Given the description of an element on the screen output the (x, y) to click on. 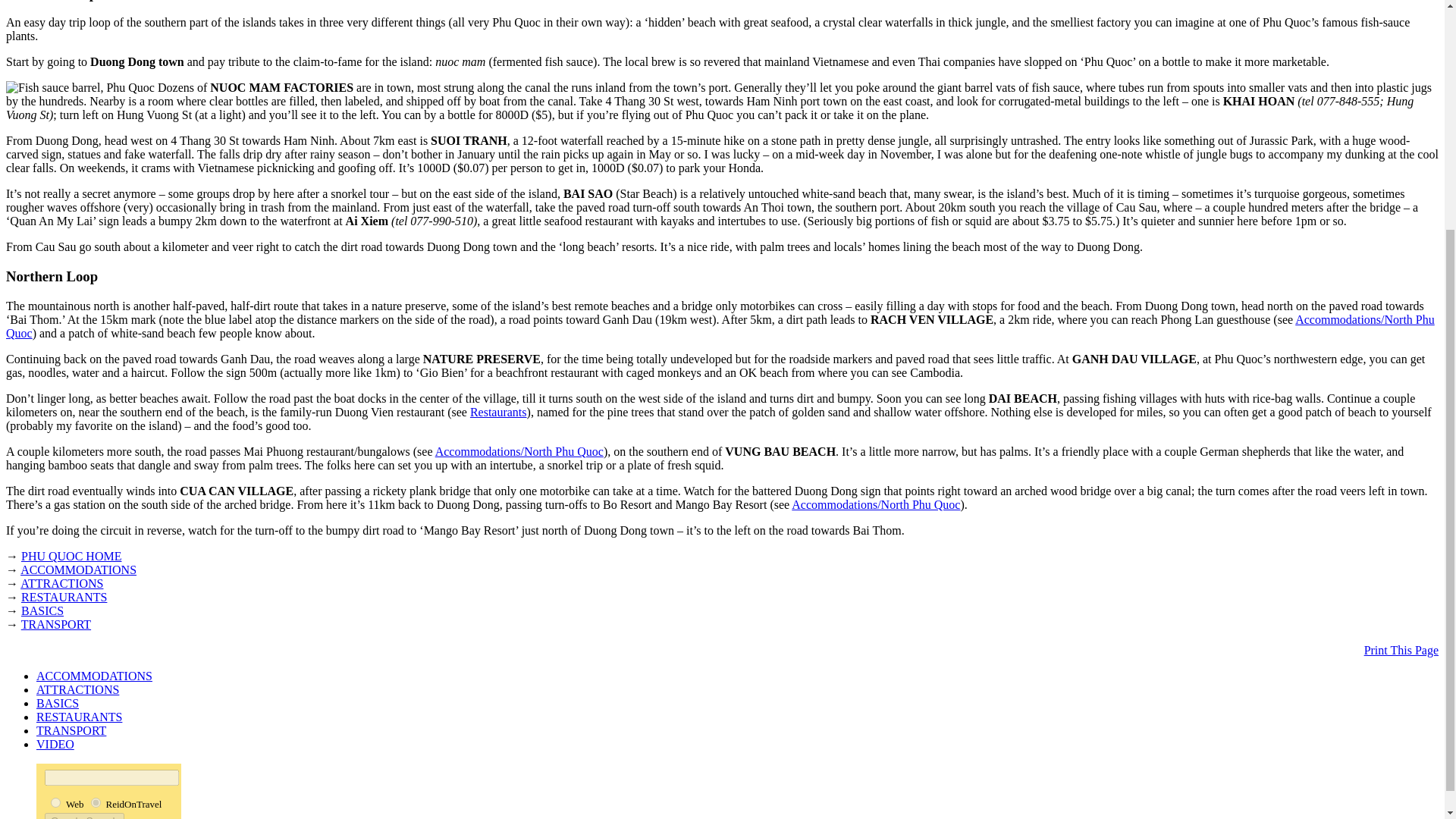
RESTAURANTS (79, 716)
ACCOMMODATIONS (78, 569)
TRANSPORT (71, 730)
ATTRACTIONS (77, 689)
TRANSPORT (71, 730)
Search the Web (74, 802)
BASICS (42, 610)
BASICS (57, 703)
VIDEO (55, 744)
BASICS (57, 703)
